Given the description of an element on the screen output the (x, y) to click on. 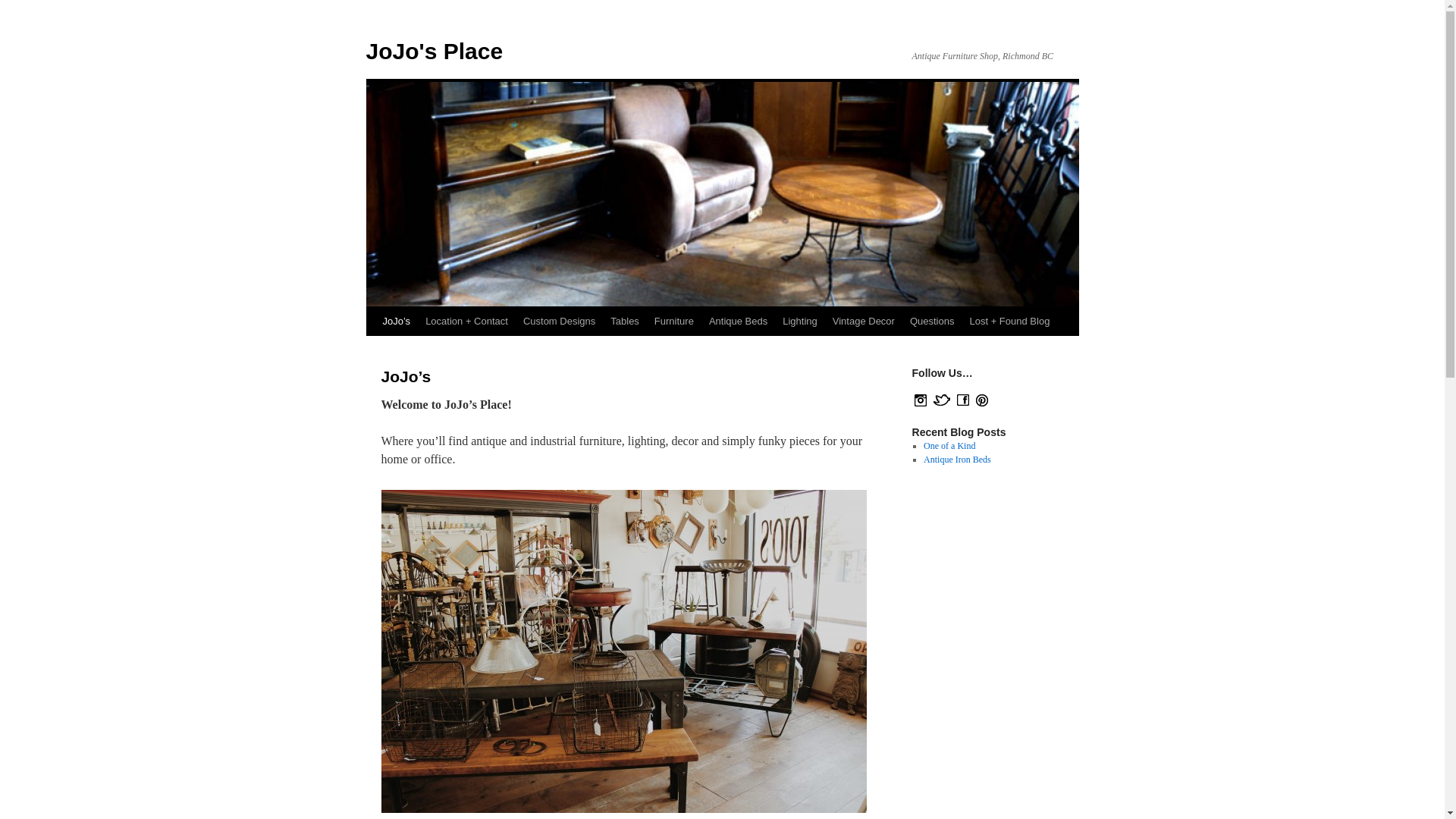
Lighting (799, 321)
Furniture (673, 321)
Tables (624, 321)
Custom Designs (558, 321)
One of a Kind (949, 445)
One of a Kind (949, 445)
Vintage Decor (863, 321)
Antique Iron Beds (957, 459)
Antique Beds (737, 321)
Questions (932, 321)
